Given the description of an element on the screen output the (x, y) to click on. 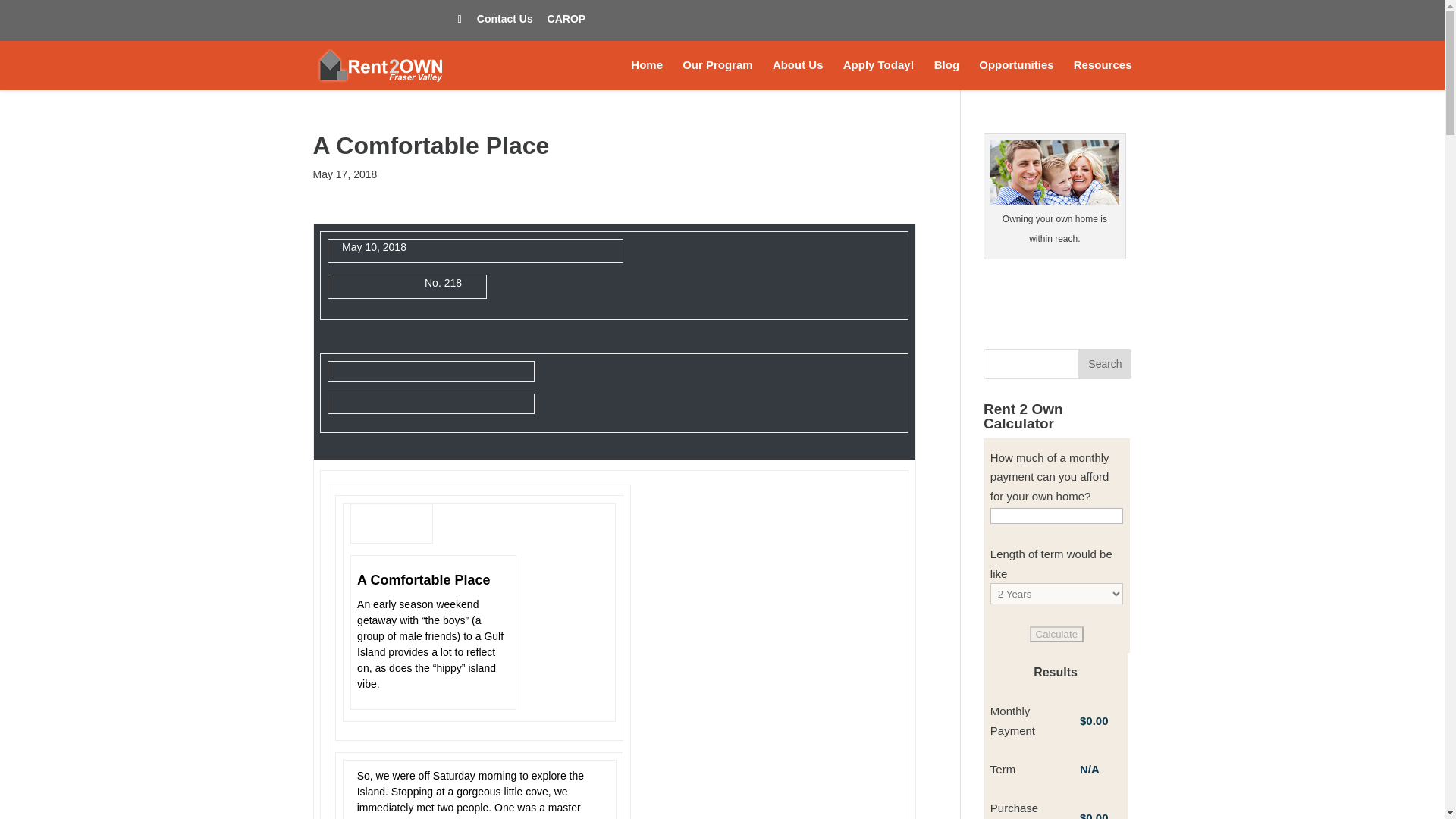
Contact Us (504, 22)
Search (1104, 363)
Opportunities (1015, 74)
Resources (1103, 74)
Search (1104, 363)
Calculate (1056, 634)
CAROP (566, 22)
About Us (798, 74)
Home (646, 74)
Our Program (717, 74)
Apply Today! (878, 74)
Calculate (1056, 634)
